Given the description of an element on the screen output the (x, y) to click on. 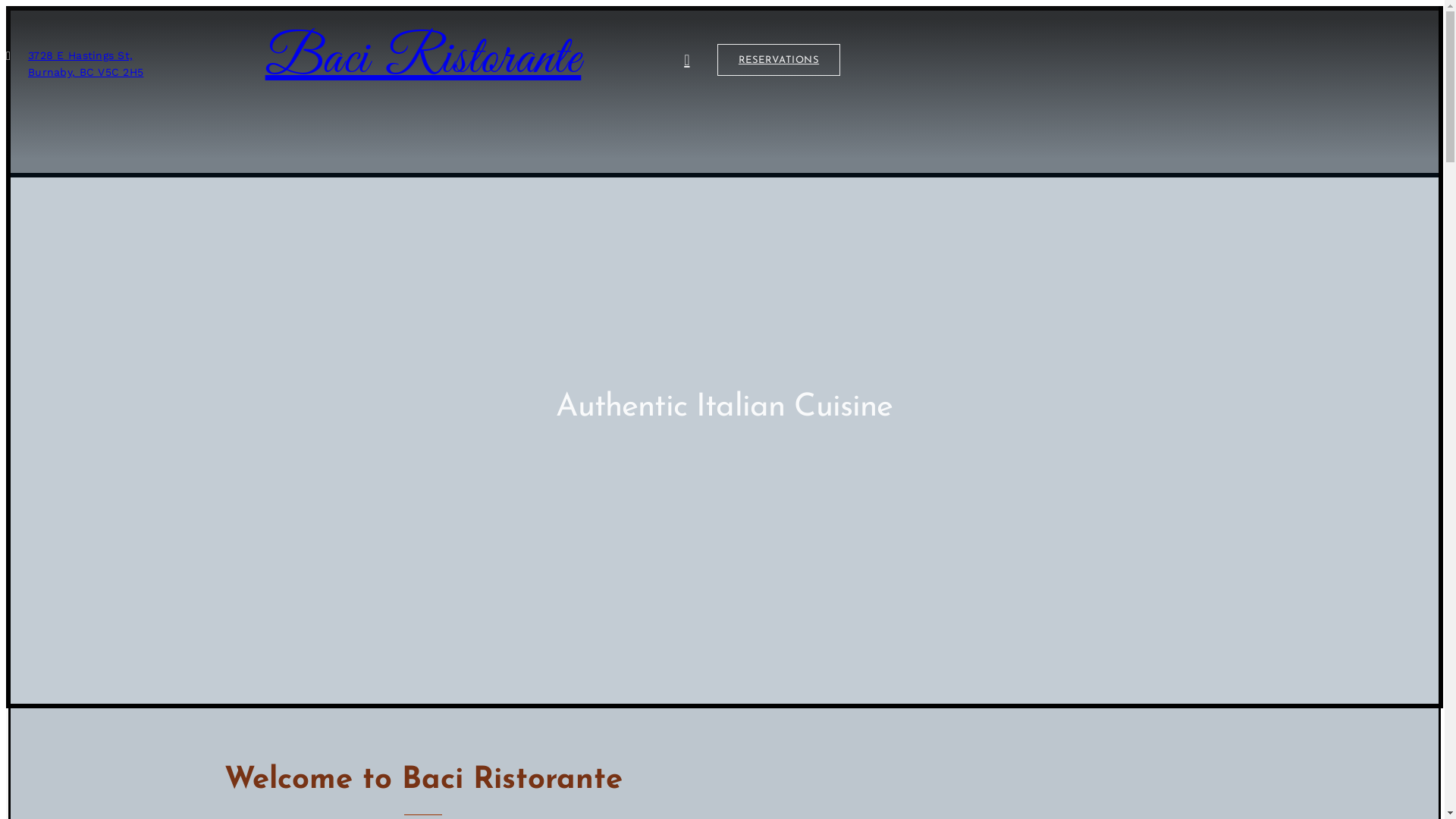
RESERVATIONS Element type: text (778, 59)
Burnaby, BC V5C 2H5 Element type: text (85, 71)
3728 E Hastings St, Element type: text (80, 55)
Baci Ristorante Element type: text (423, 59)
